Given the description of an element on the screen output the (x, y) to click on. 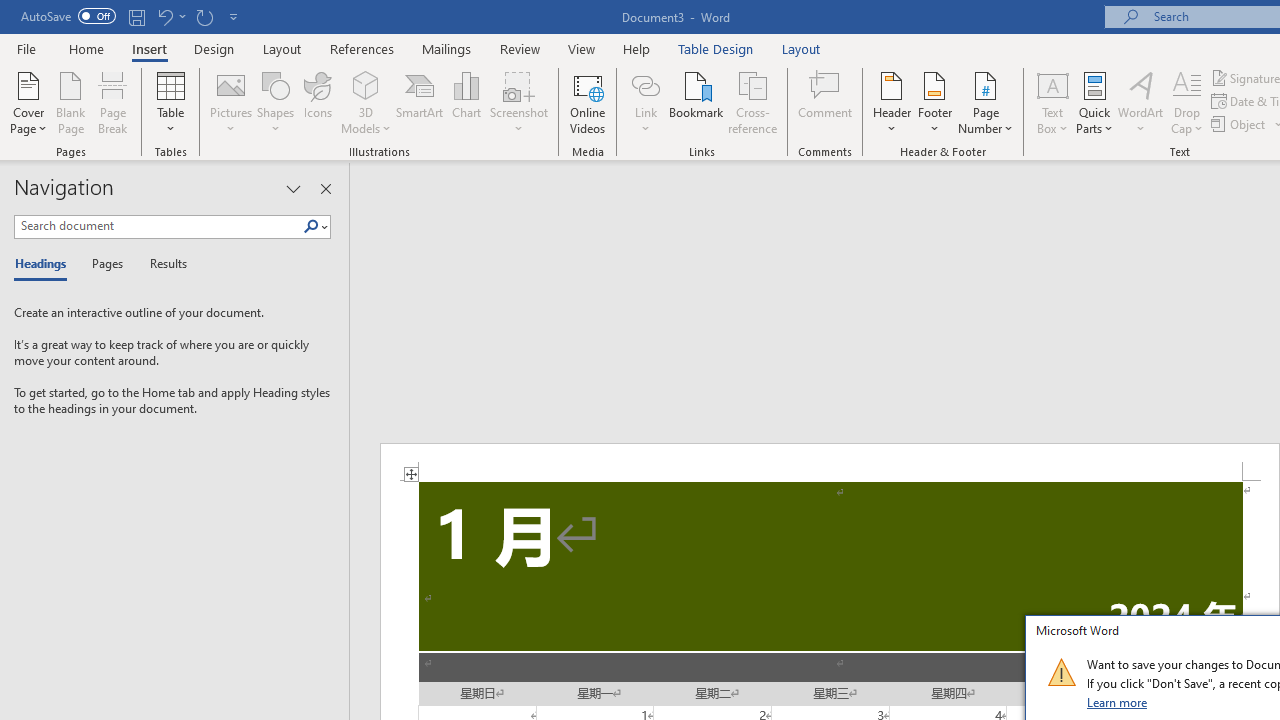
Page Break (113, 102)
Page Number (986, 102)
Quick Parts (1094, 102)
Cross-reference... (752, 102)
3D Models (366, 84)
Link (645, 84)
Link (645, 102)
